Given the description of an element on the screen output the (x, y) to click on. 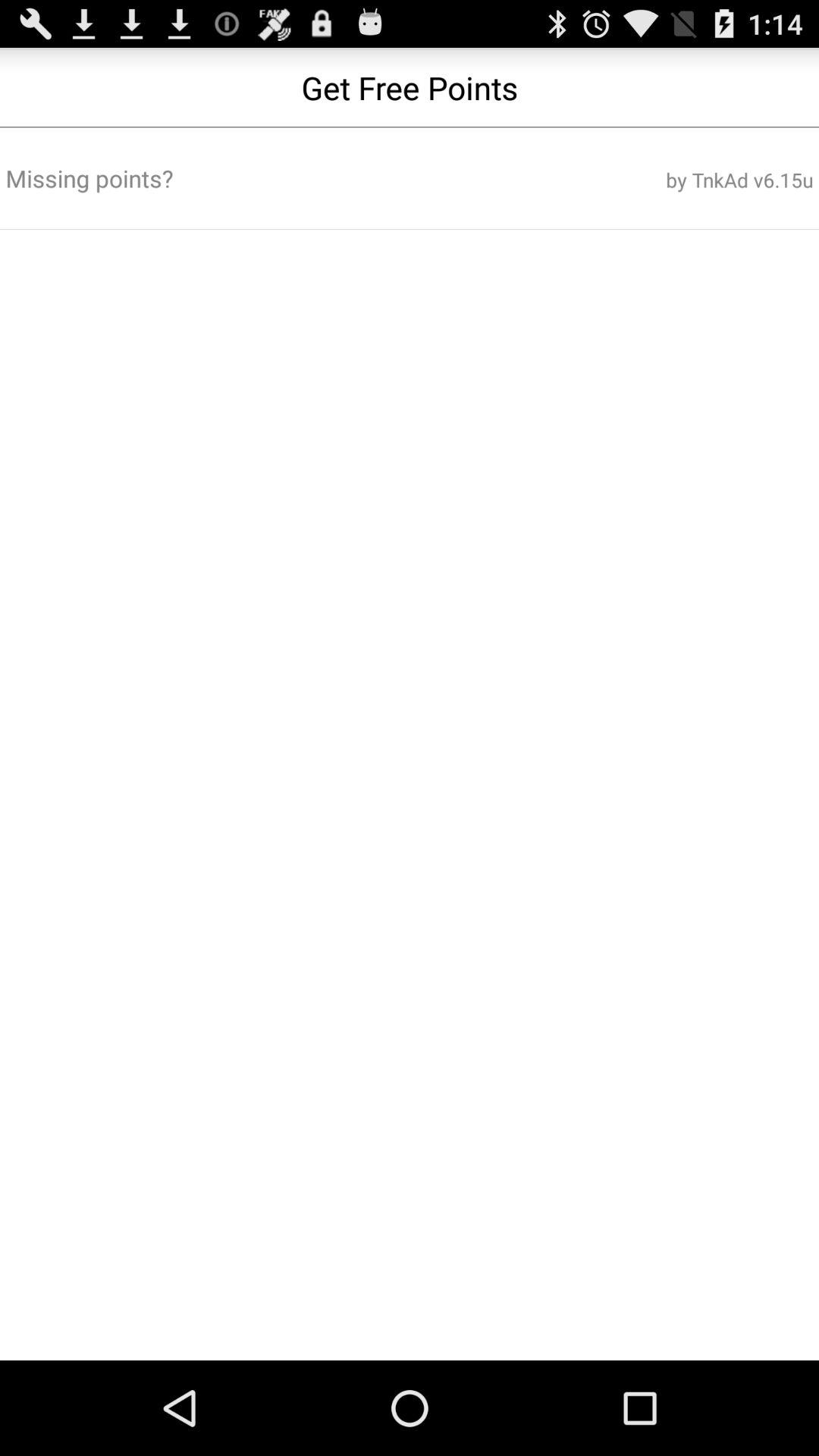
turn off the item to the left of the by tnkad v6 item (273, 178)
